Given the description of an element on the screen output the (x, y) to click on. 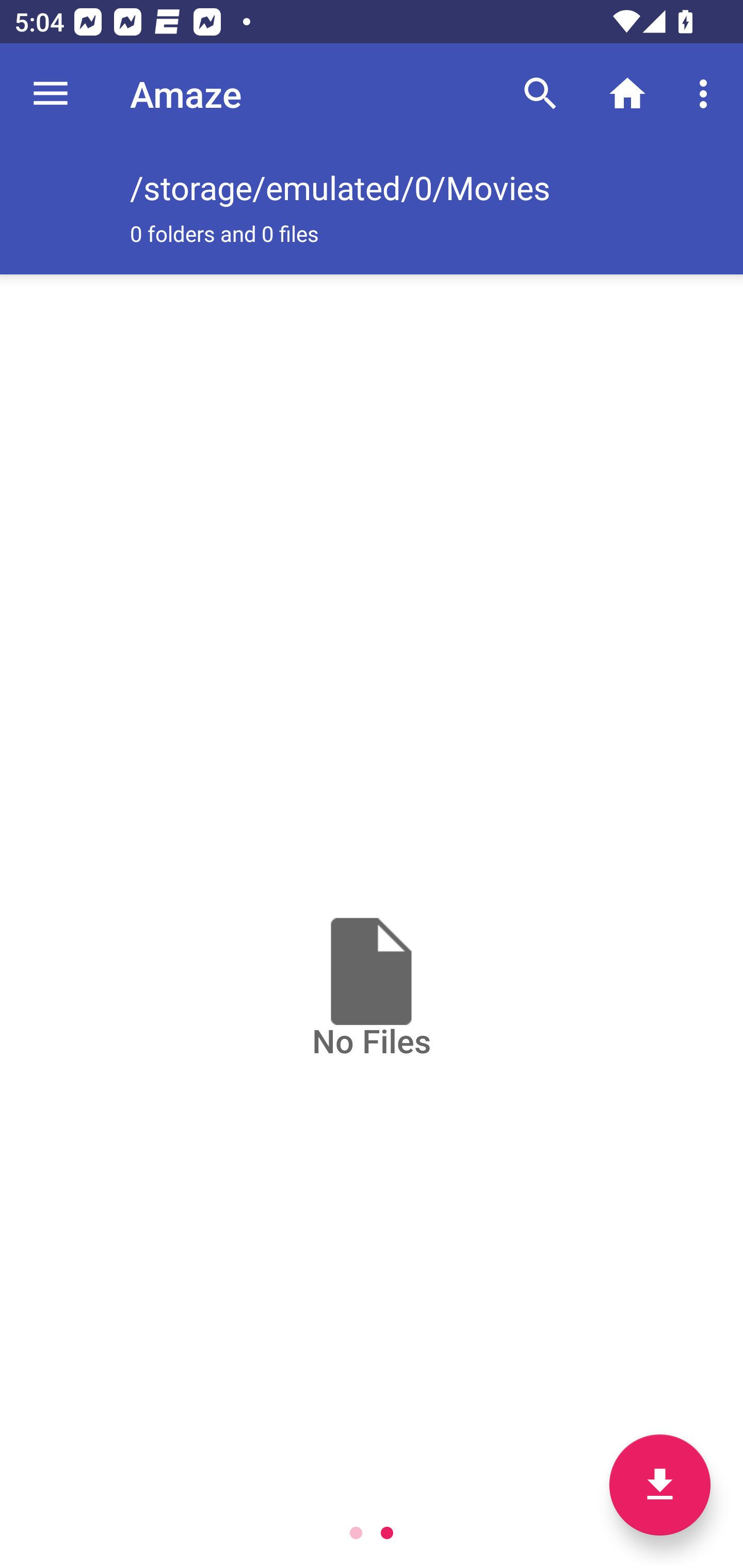
Navigate up (50, 93)
Search (540, 93)
Home (626, 93)
More options (706, 93)
